Given the description of an element on the screen output the (x, y) to click on. 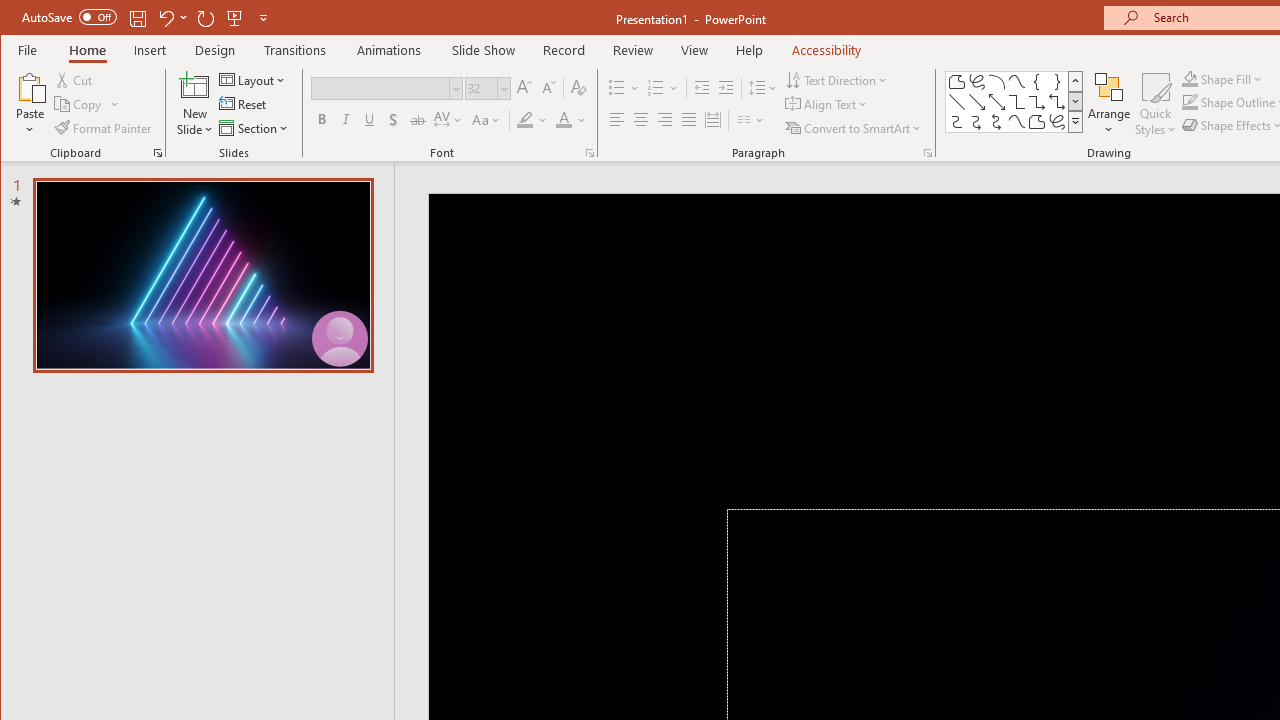
Connector: Elbow Double-Arrow (1057, 102)
